Given the description of an element on the screen output the (x, y) to click on. 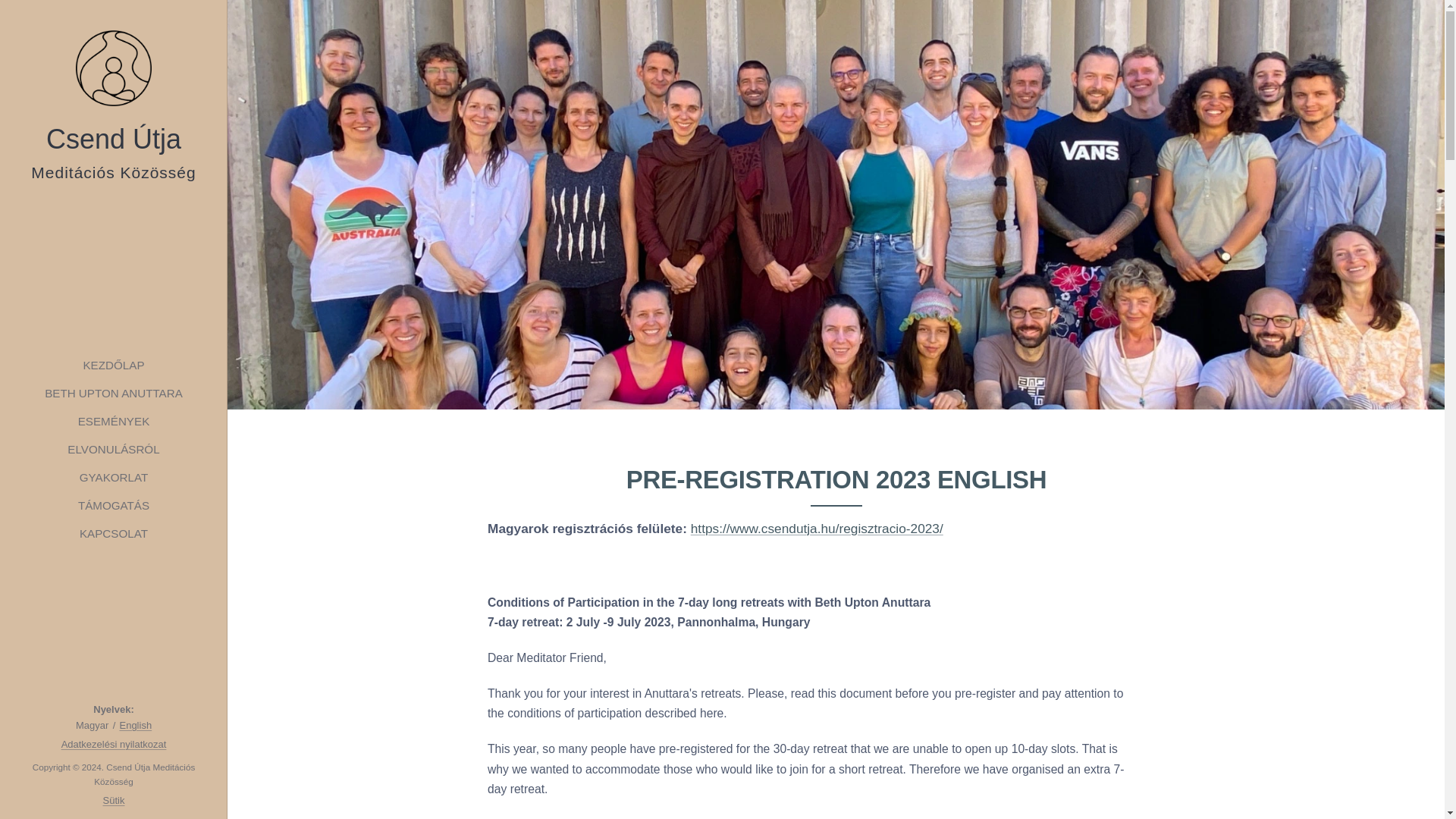
BETH UPTON ANUTTARA (113, 393)
KAPCSOLAT (113, 533)
GYAKORLAT (113, 477)
English (135, 724)
